Given the description of an element on the screen output the (x, y) to click on. 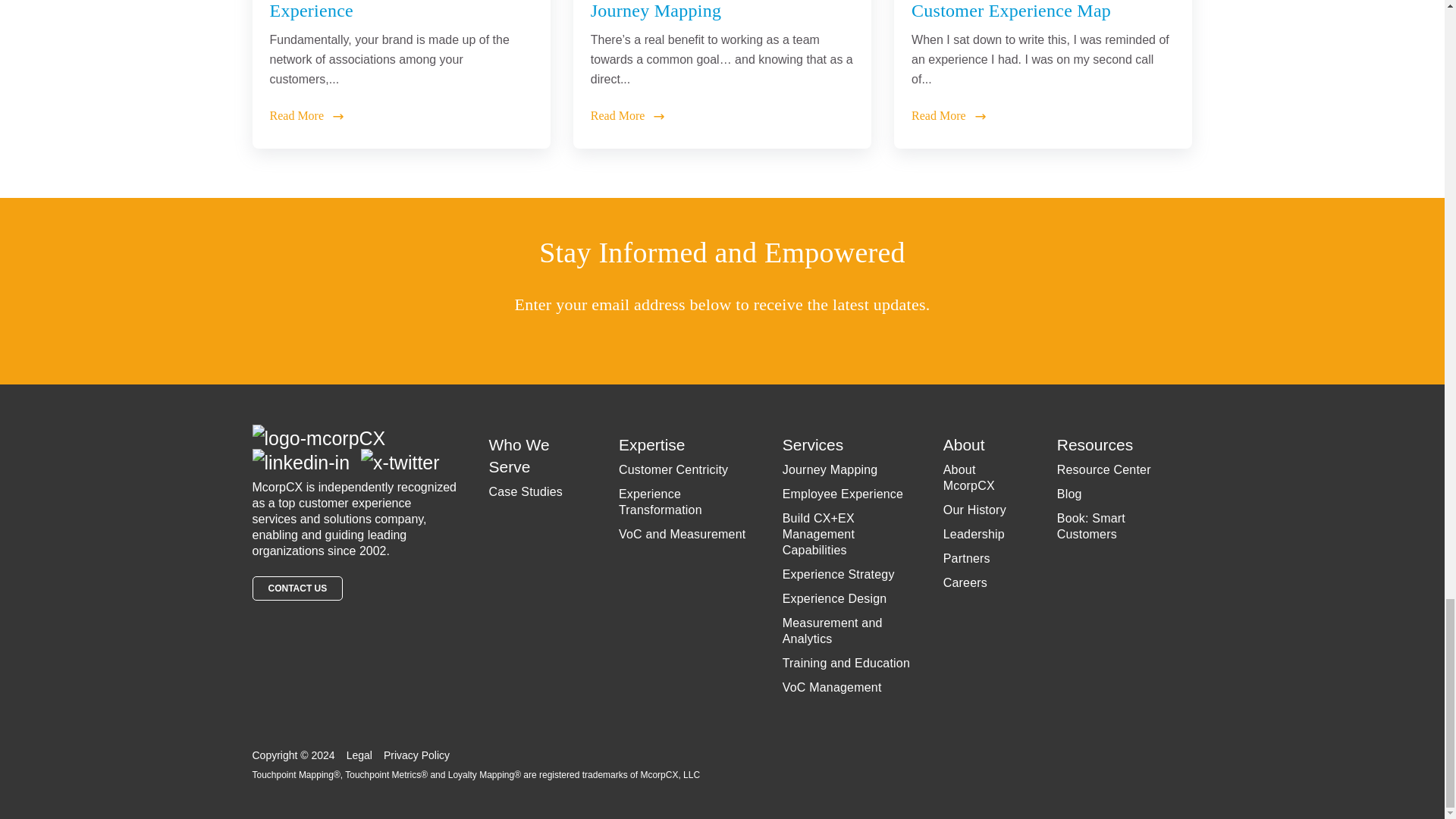
logo-mcorpCX (318, 438)
